Given the description of an element on the screen output the (x, y) to click on. 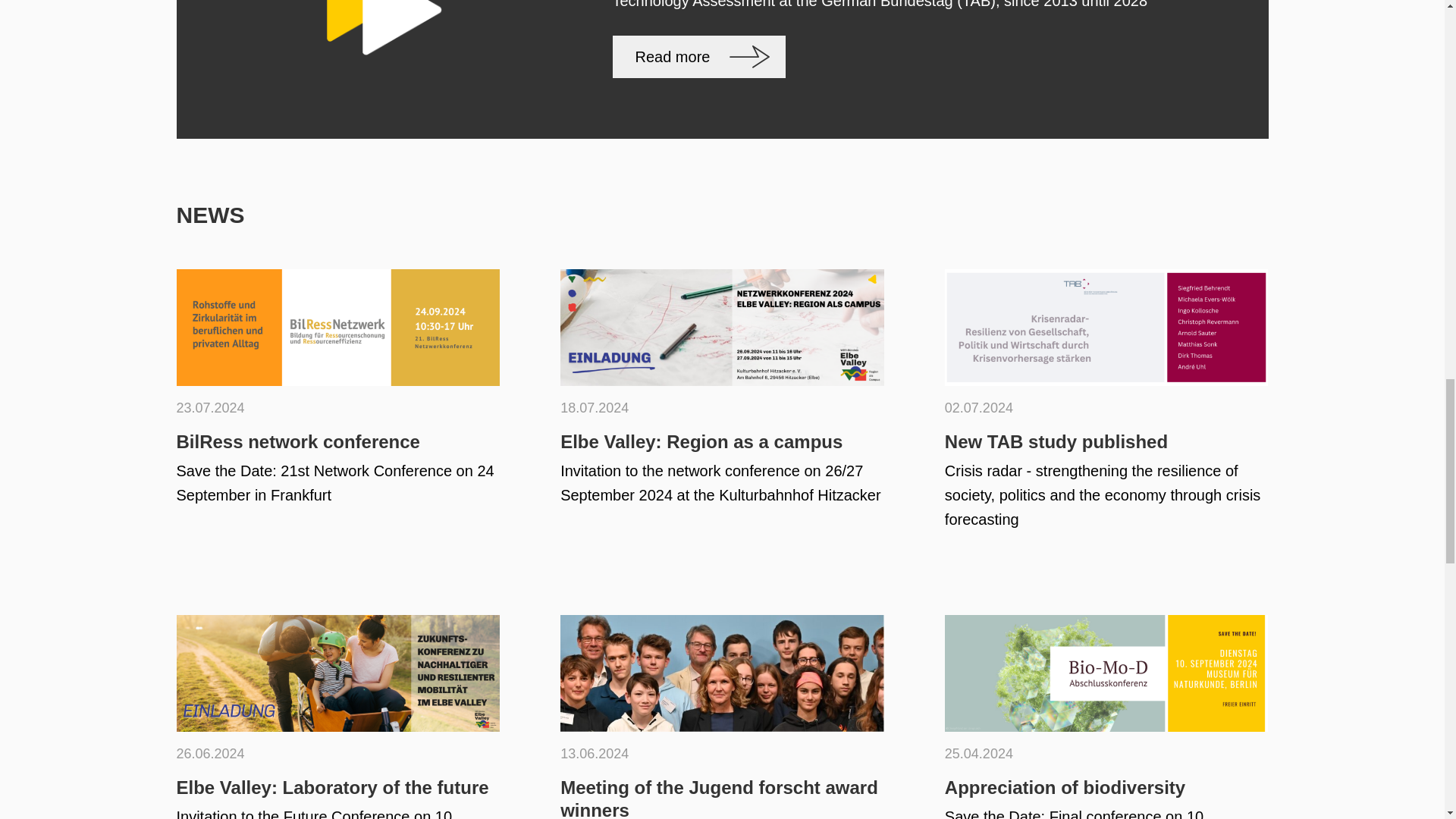
Elbe Valley: Region as a campus (721, 411)
BilRess network conference (337, 411)
Meeting of the Jugend forscht award winners (721, 717)
Appreciation of biodiversity (1106, 717)
Elbe Valley: Laboratory of the future (337, 717)
New TAB study published (1106, 411)
